Given the description of an element on the screen output the (x, y) to click on. 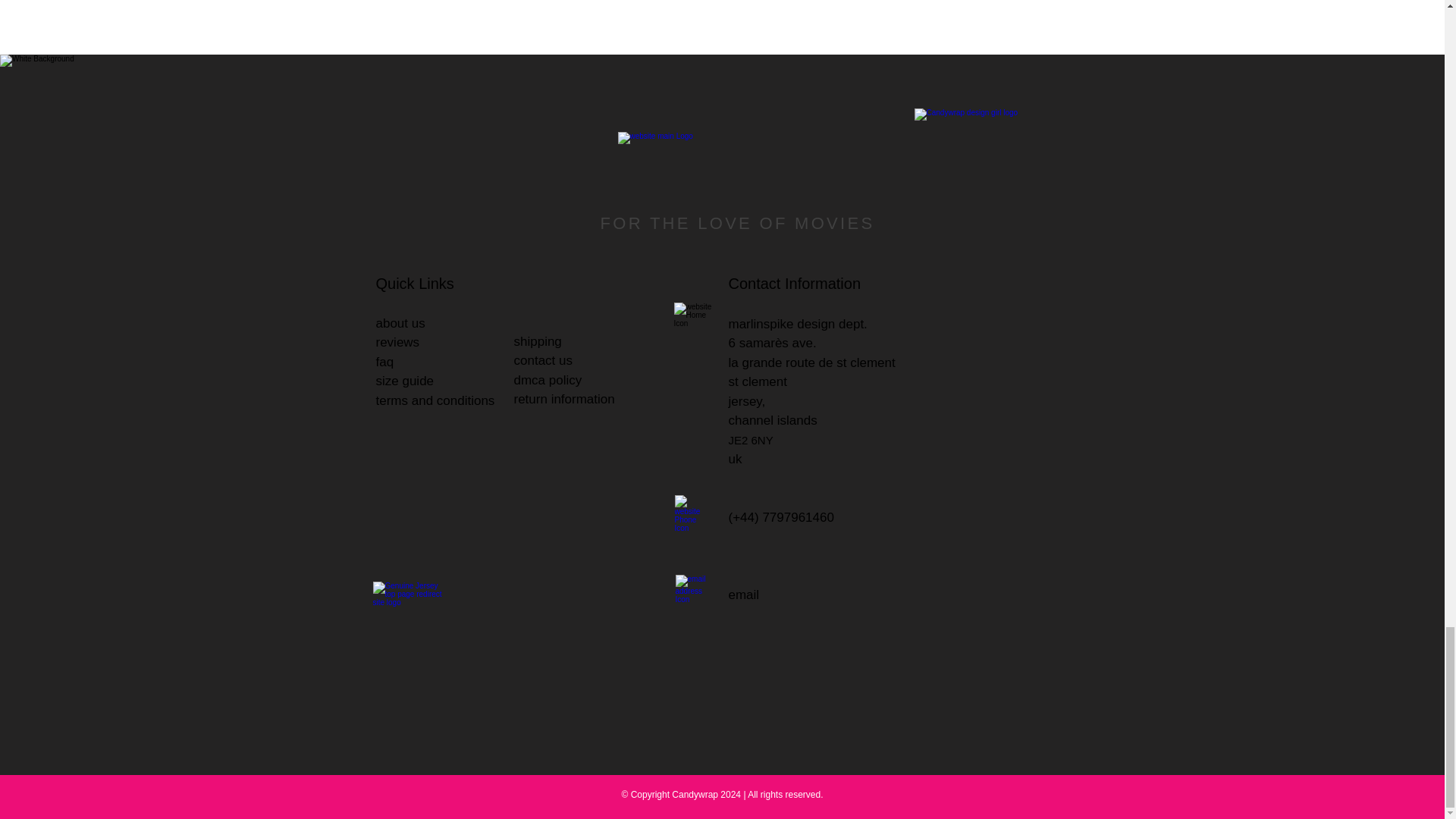
Address (691, 321)
Contact Us (693, 593)
Get In Touch (693, 514)
It's all about the movies (733, 169)
